Given the description of an element on the screen output the (x, y) to click on. 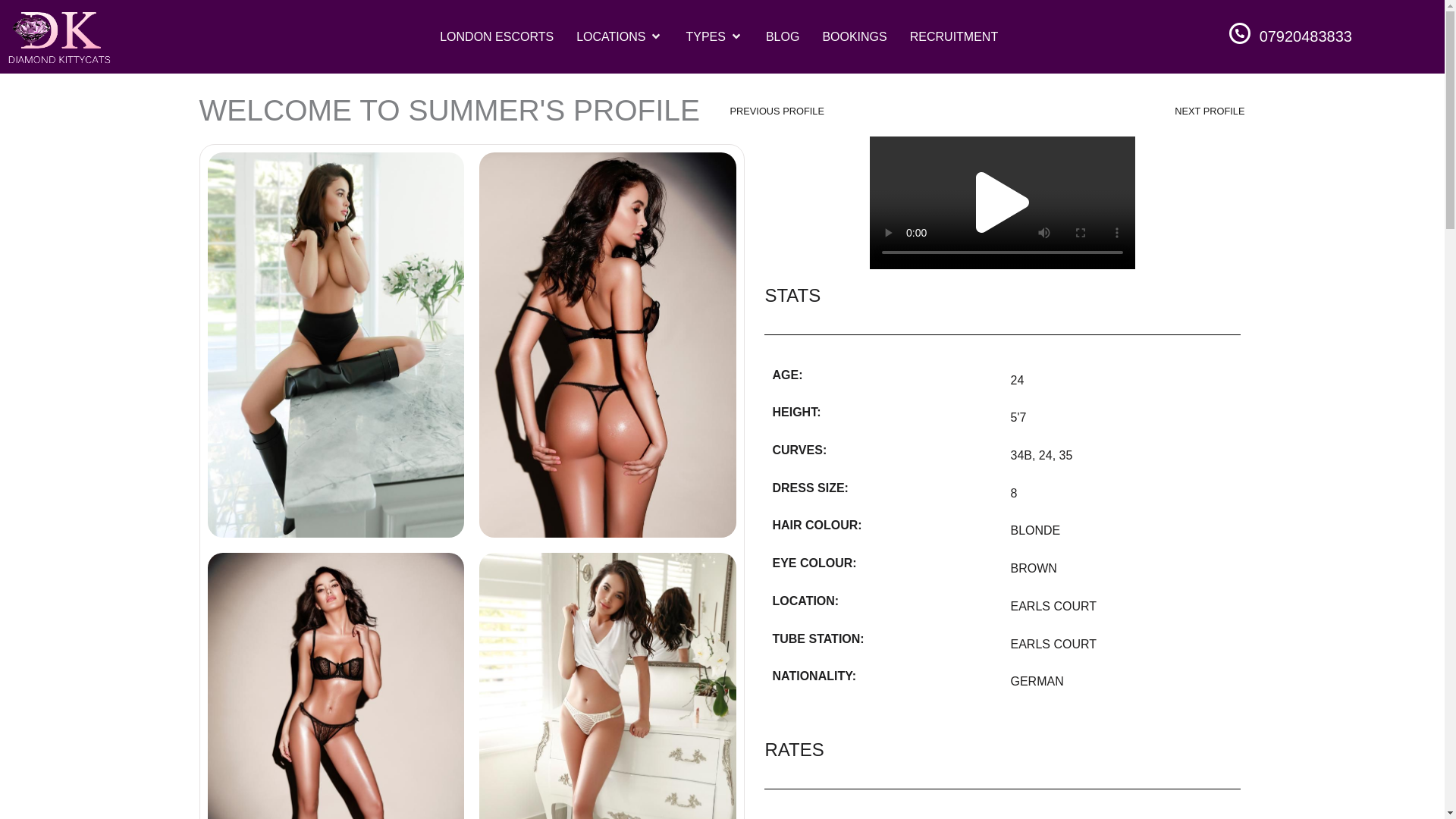
LONDON ESCORTS (496, 36)
LOCATIONS (610, 36)
